Given the description of an element on the screen output the (x, y) to click on. 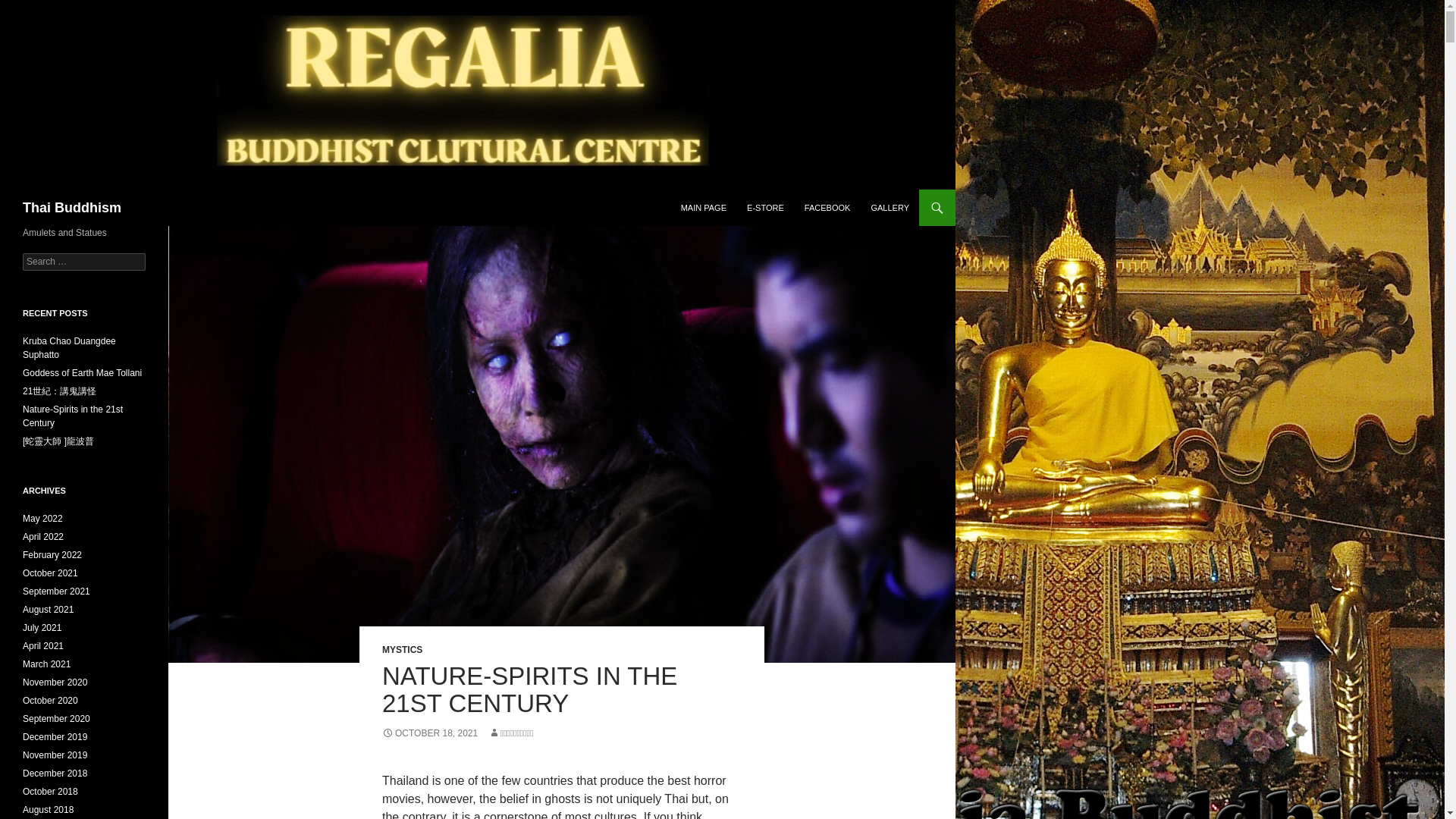
December 2019 (55, 737)
Kruba Chao Duangdee Suphatto (69, 347)
August 2021 (48, 609)
April 2021 (43, 645)
Nature-Spirits in the 21st Century (72, 416)
MYSTICS (401, 649)
GALLERY (889, 207)
FACEBOOK (827, 207)
November 2019 (55, 755)
